Given the description of an element on the screen output the (x, y) to click on. 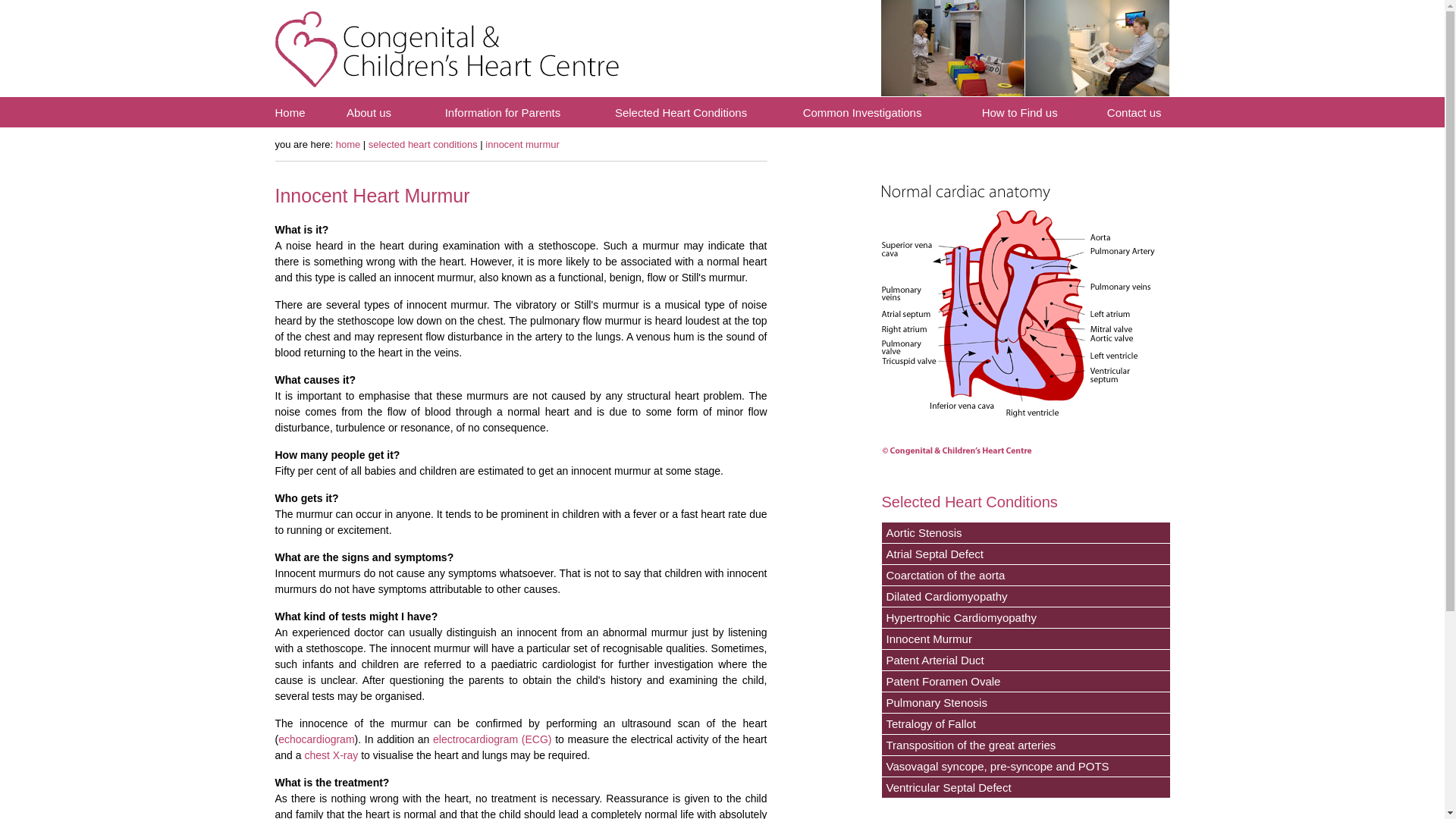
Home (289, 112)
innocent murmur (521, 143)
How to Find us (1019, 112)
selected heart conditions (422, 143)
Atrial Septal Defect (1024, 553)
Aortic Stenosis (1024, 532)
Selected Heart Conditions (680, 112)
About us (368, 112)
Common Investigations (862, 112)
echocardiogram (315, 739)
